Given the description of an element on the screen output the (x, y) to click on. 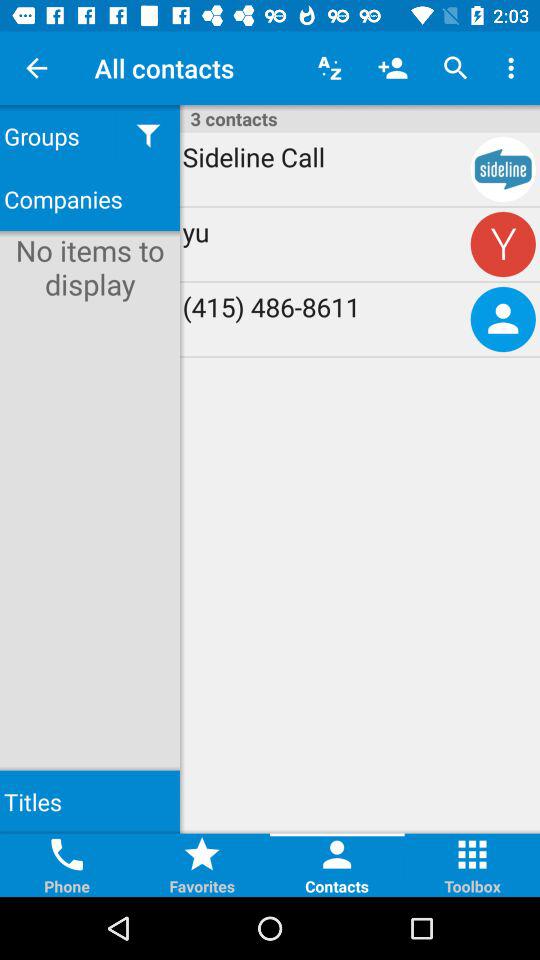
open icon below the all contacts item (148, 136)
